Given the description of an element on the screen output the (x, y) to click on. 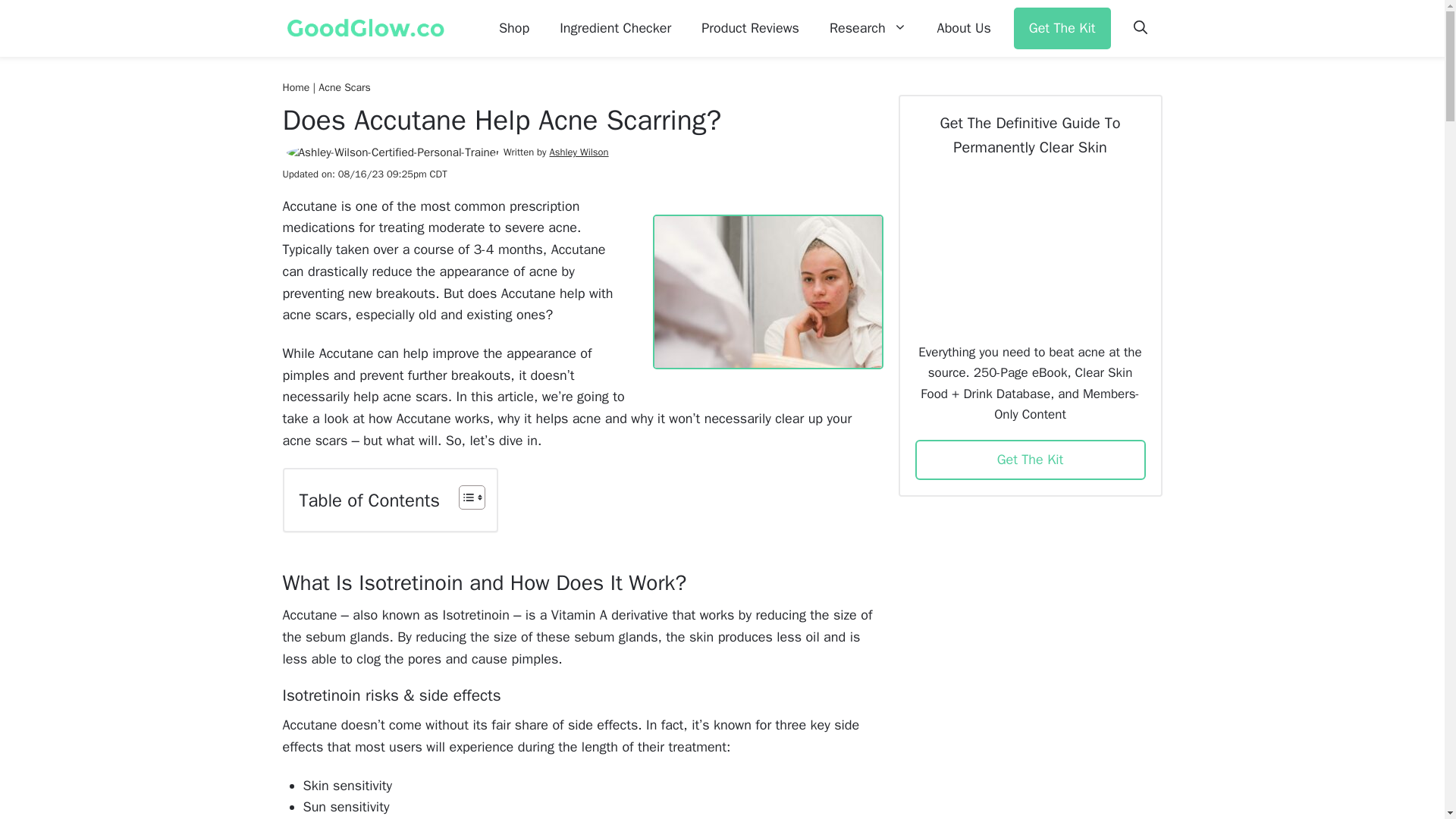
Research (867, 28)
Get The Kit (1061, 28)
Shop (513, 28)
Home (295, 87)
Acne Scars (344, 87)
Ashley Wilson (578, 151)
View all posts by Ashley Wilson (578, 151)
About Us (963, 28)
Ingredient Checker (614, 28)
Product Reviews (749, 28)
